Given the description of an element on the screen output the (x, y) to click on. 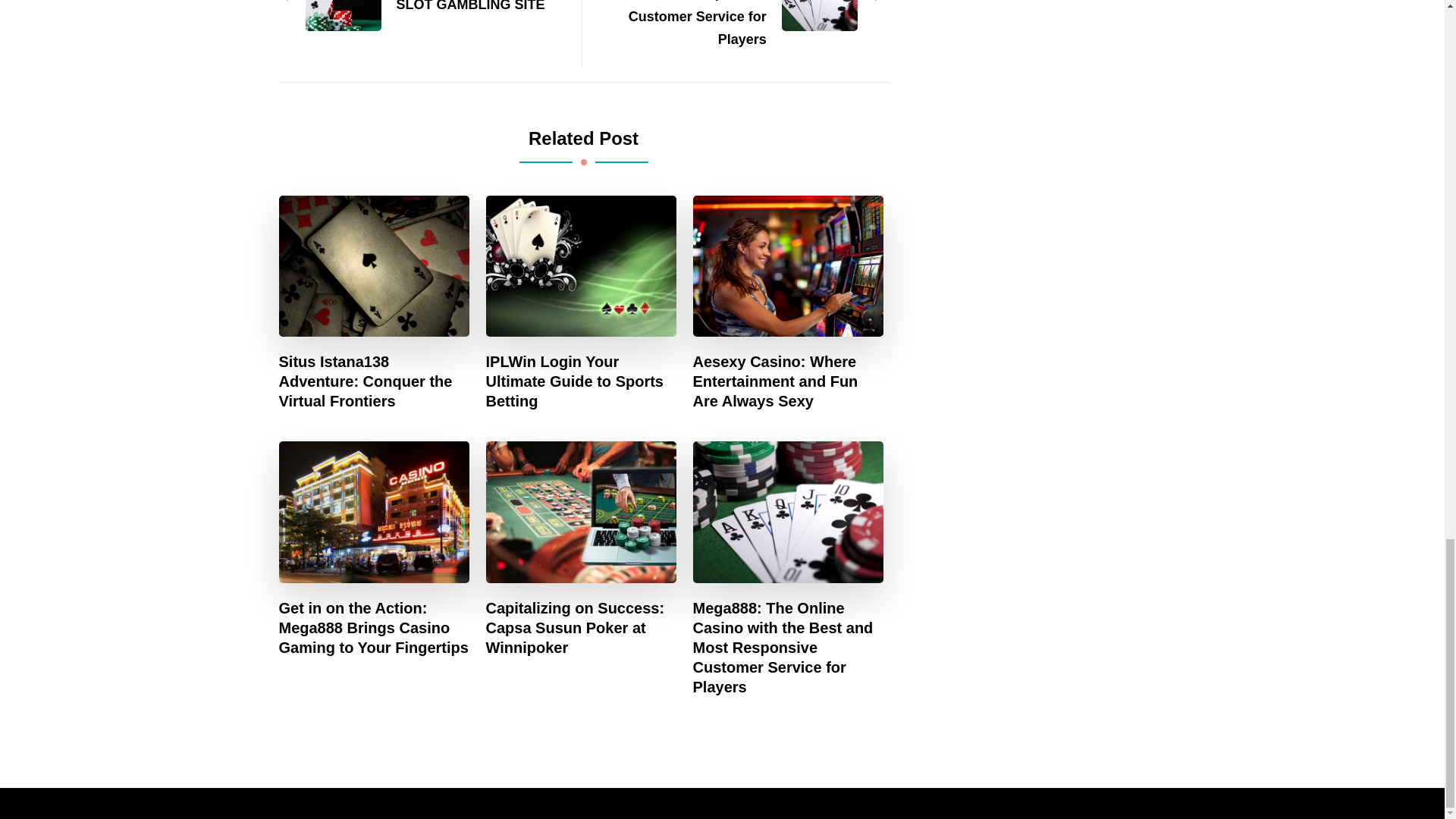
Situs Istana138 Adventure: Conquer the Virtual Frontiers (374, 381)
Here Is A Quick Cure For SLOT GAMBLING SITE (421, 8)
